Given the description of an element on the screen output the (x, y) to click on. 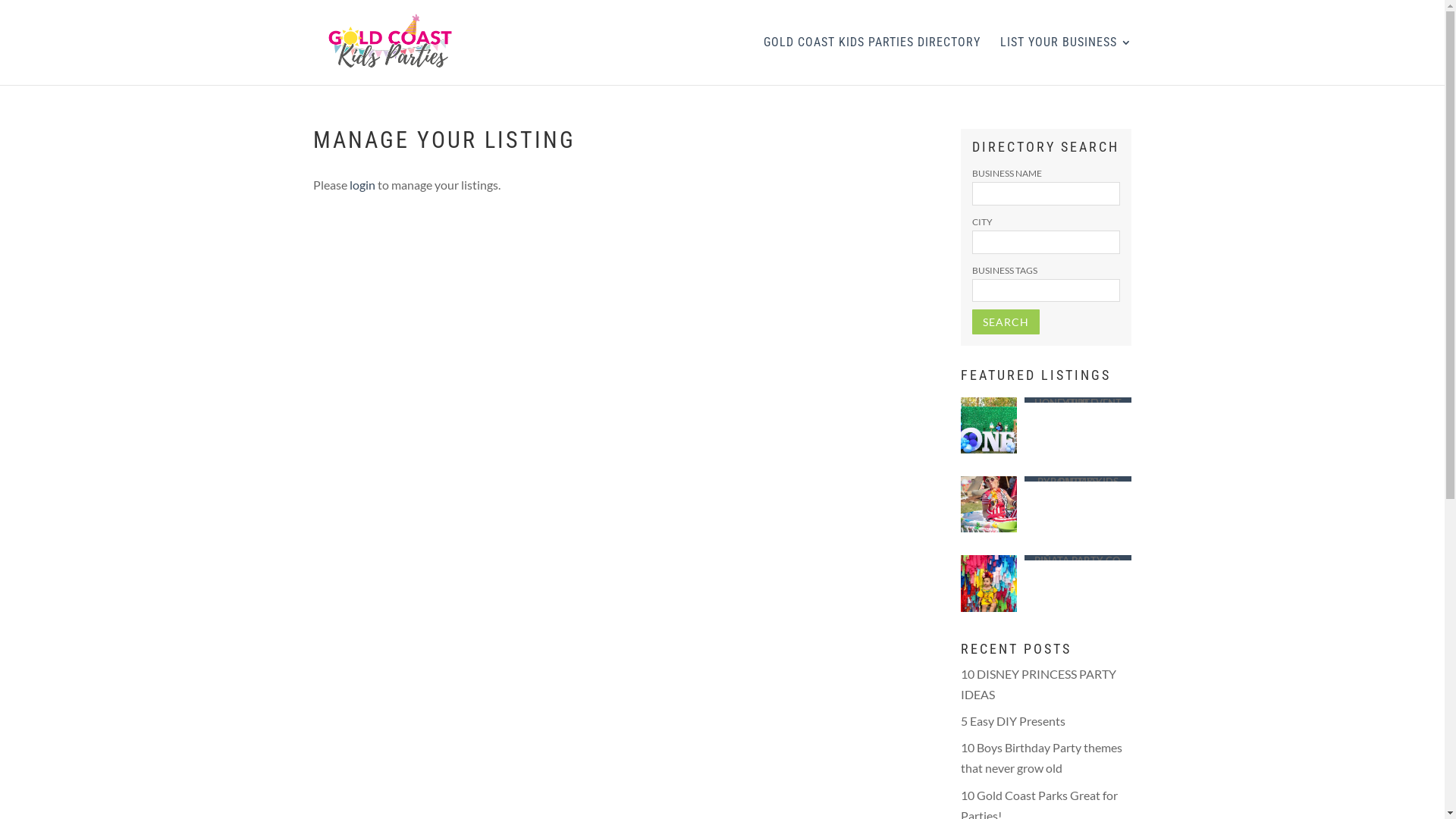
HONEYTUB EVENT HIRE Element type: text (1077, 399)
10 Boys Birthday Party themes that never grow old Element type: text (1041, 757)
GOLD COAST KIDS PARTIES DIRECTORY Element type: text (870, 60)
BYRON BAY KIDS PARTIES Element type: text (1077, 478)
login Element type: text (361, 184)
Search Element type: text (1005, 321)
5 Easy DIY Presents Element type: text (1012, 720)
LIST YOUR BUSINESS Element type: text (1065, 60)
10 DISNEY PRINCESS PARTY IDEAS Element type: text (1038, 683)
